Given the description of an element on the screen output the (x, y) to click on. 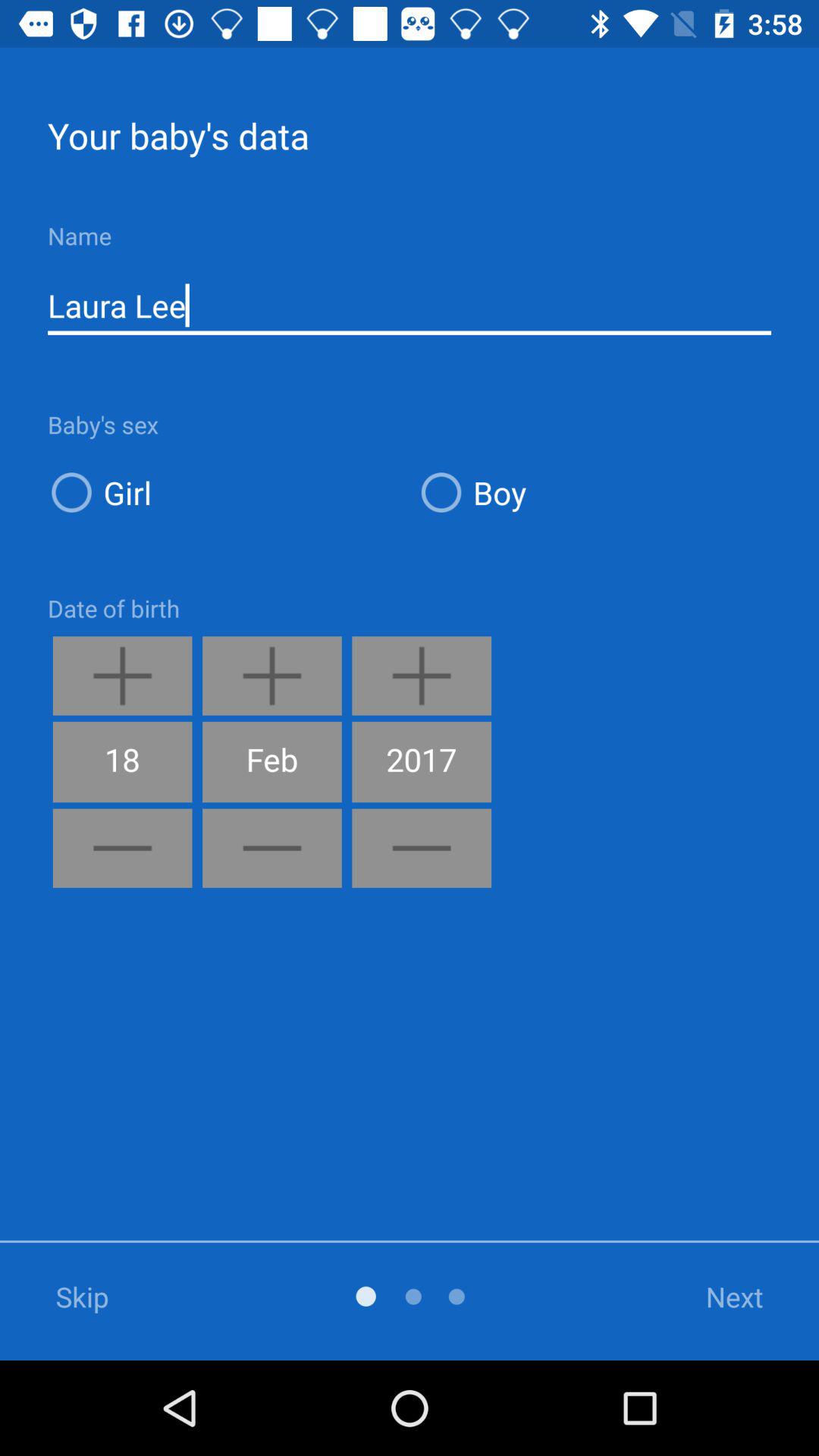
click the item next to girl item (594, 492)
